Given the description of an element on the screen output the (x, y) to click on. 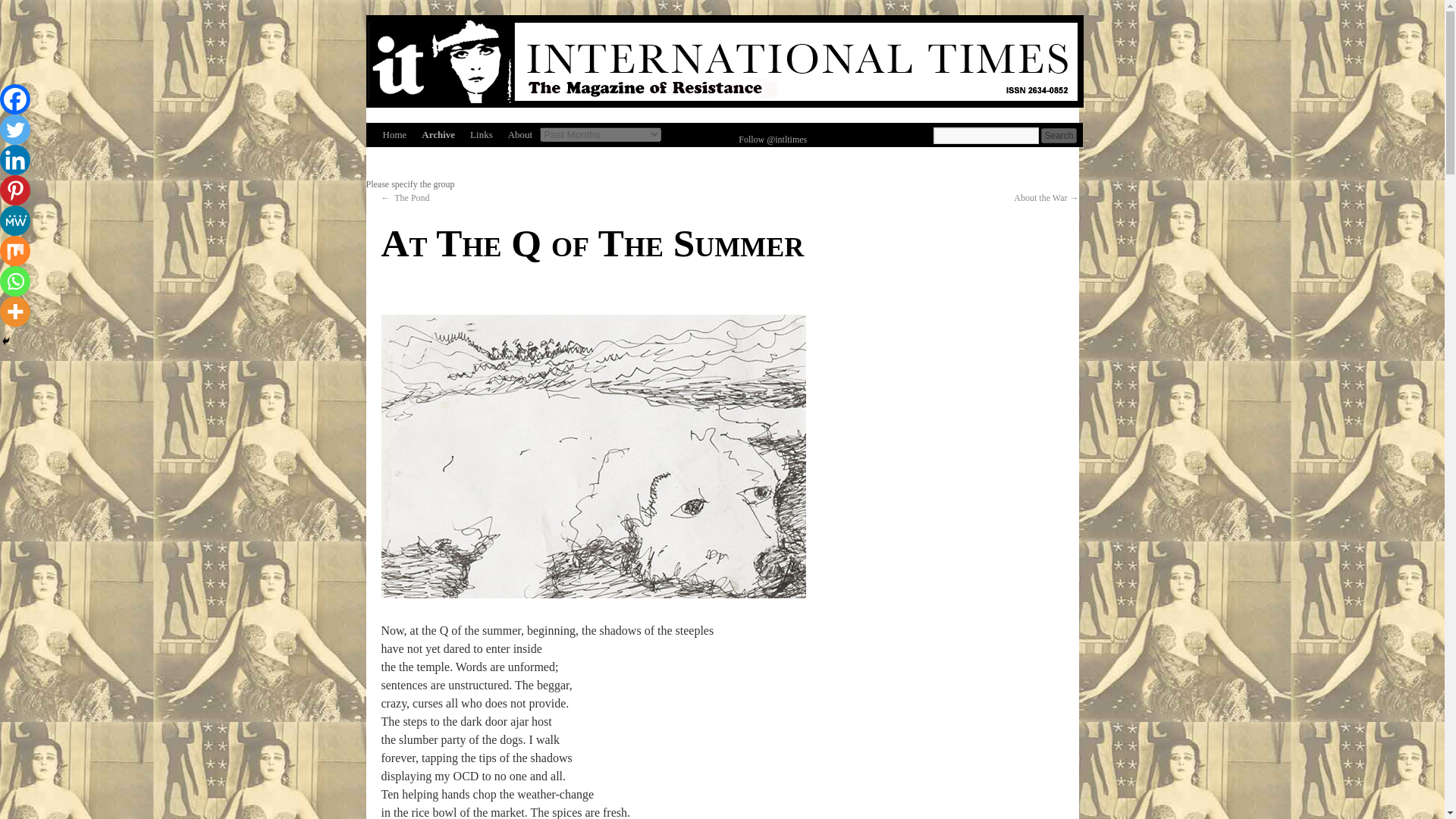
Archive (438, 134)
Links (481, 134)
About (520, 134)
Like International Times on facebook (695, 135)
Search (1058, 135)
Facebook (15, 99)
Search (1058, 135)
Home (393, 134)
Linkedin (15, 159)
Twitter (15, 129)
